Given the description of an element on the screen output the (x, y) to click on. 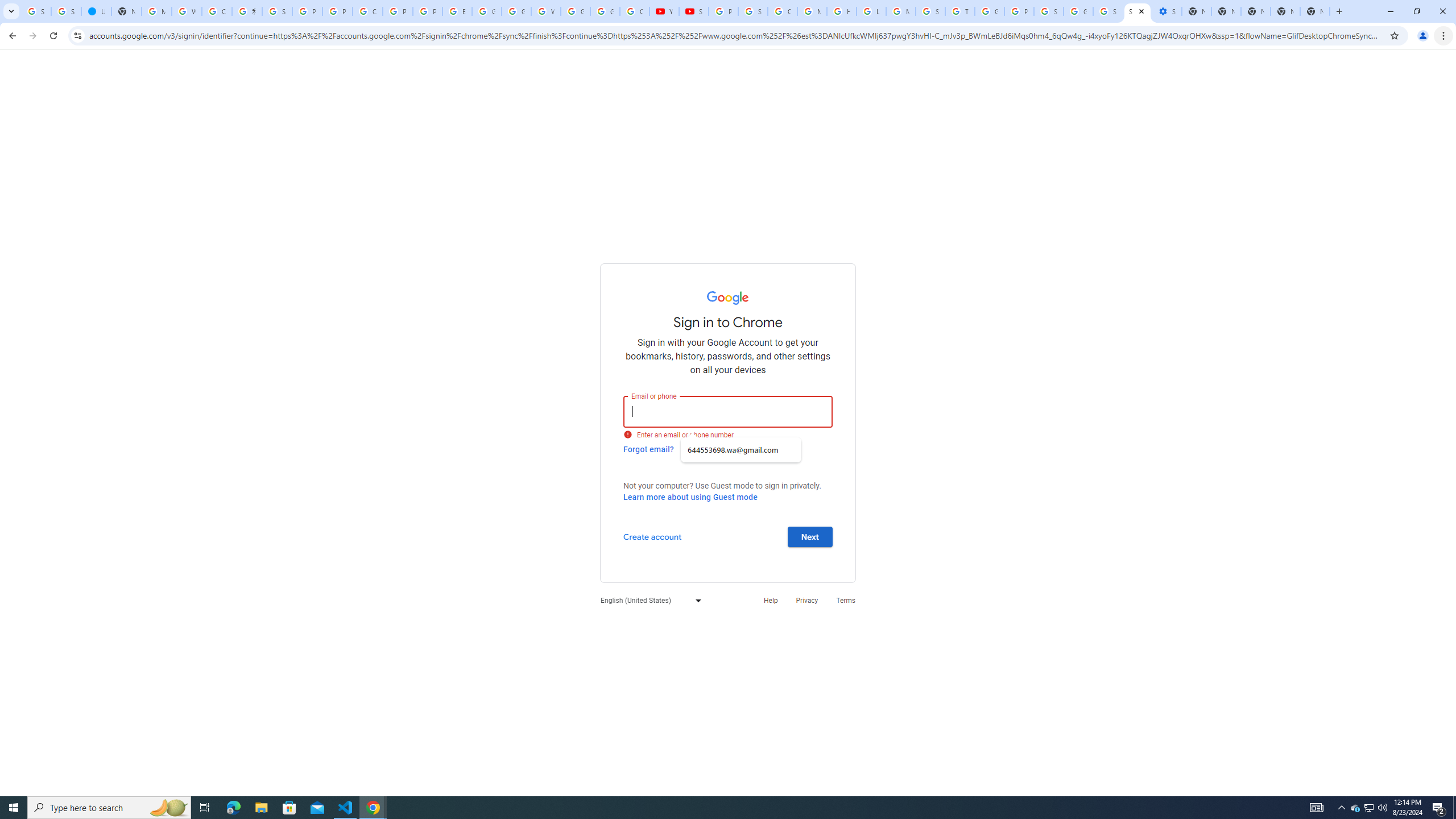
Forgot email? (648, 449)
Sign in - Google Accounts (1048, 11)
Google Account (604, 11)
Google Ads - Sign in (989, 11)
Trusted Information and Content - Google Safety Center (959, 11)
Edit and view right-to-left text - Google Docs Editors Help (456, 11)
Sign in - Google Accounts (1107, 11)
Create your Google Account (216, 11)
